Given the description of an element on the screen output the (x, y) to click on. 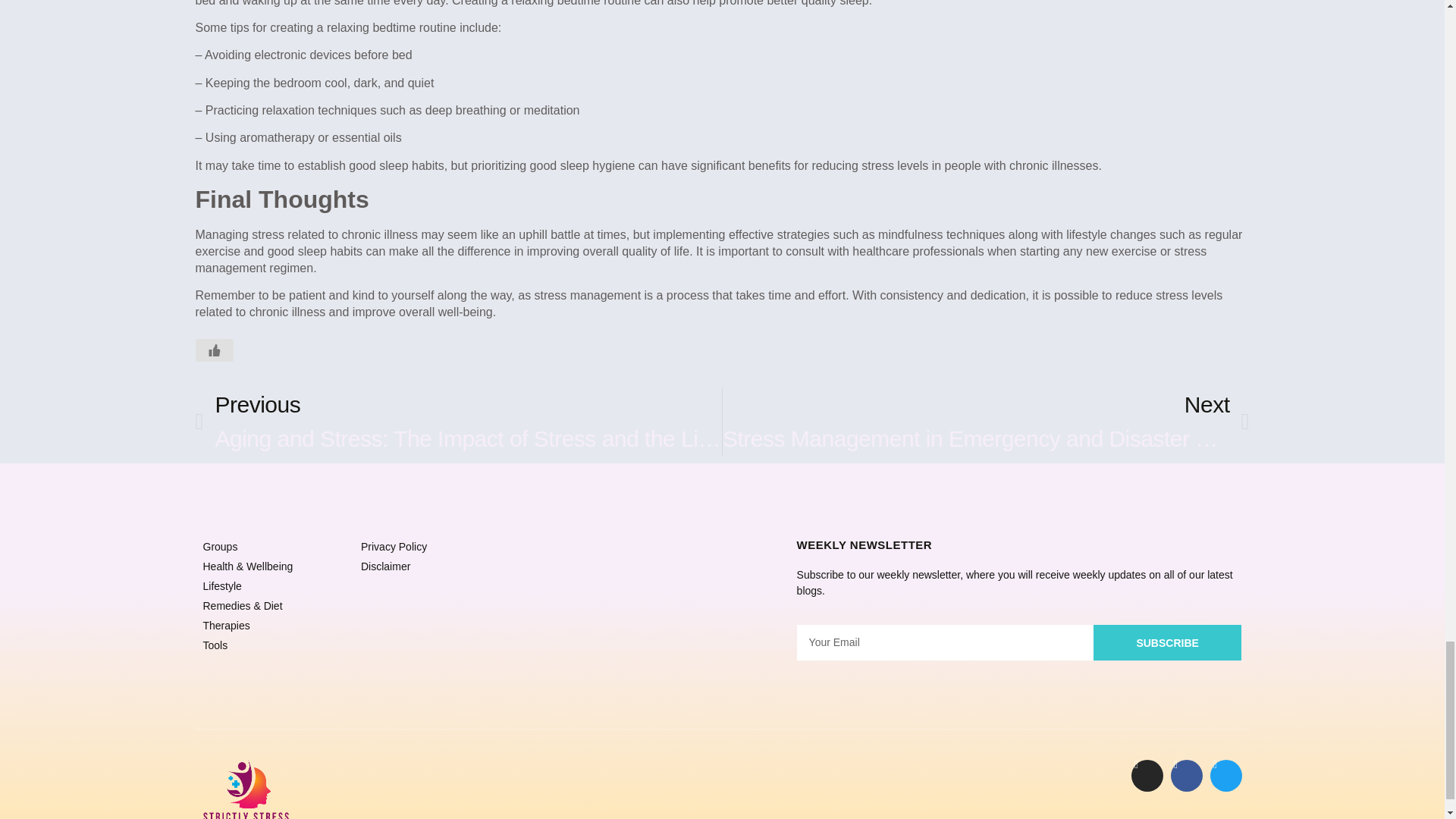
SUBSCRIBE (1167, 642)
Therapies (274, 625)
Tools (274, 645)
Disclaimer (432, 566)
Lifestyle (985, 421)
Groups (274, 586)
Privacy Policy (274, 546)
